Given the description of an element on the screen output the (x, y) to click on. 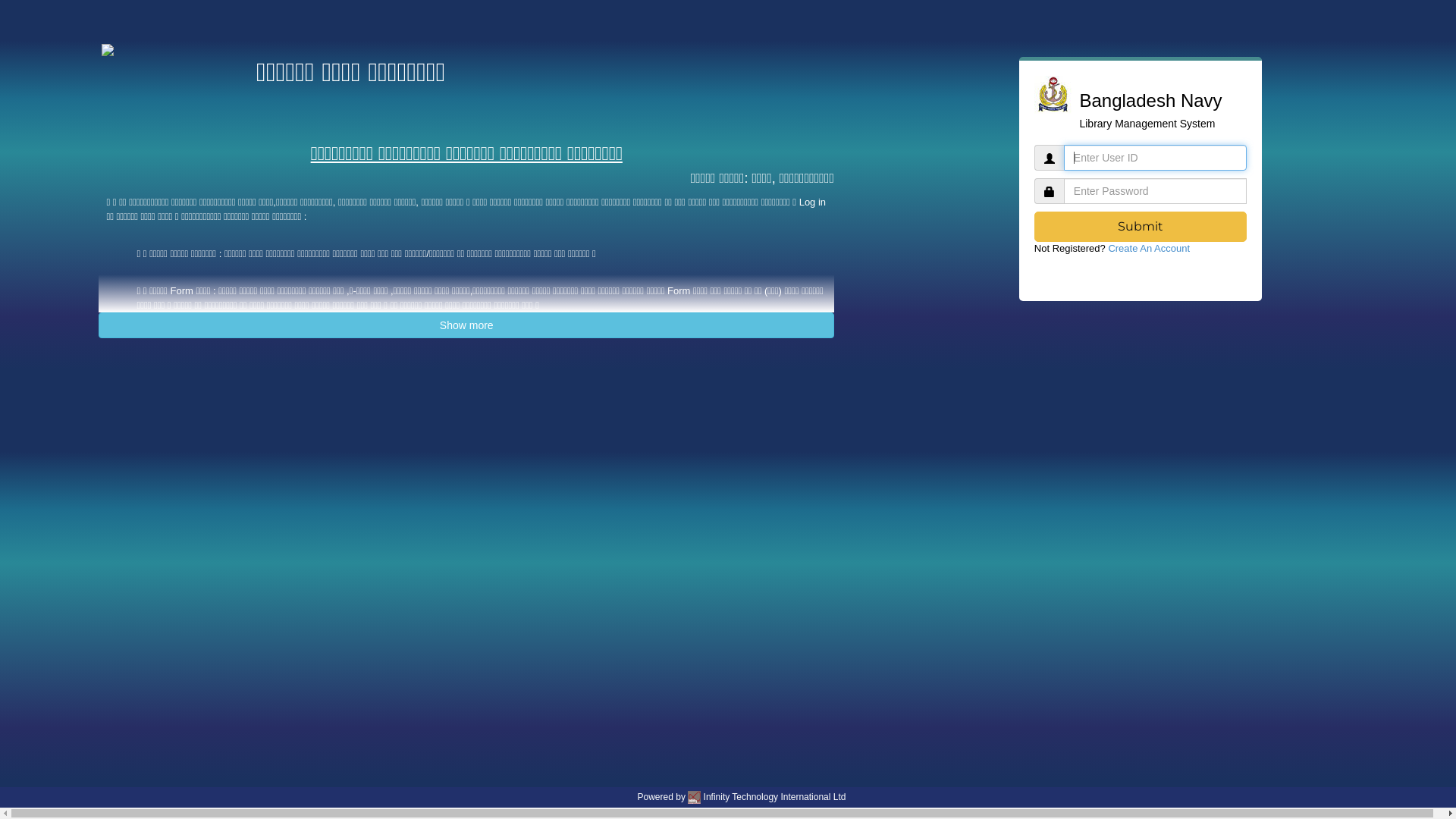
Submit Element type: text (1140, 226)
Create An Account Element type: text (1148, 248)
Show more Element type: text (466, 325)
